Given the description of an element on the screen output the (x, y) to click on. 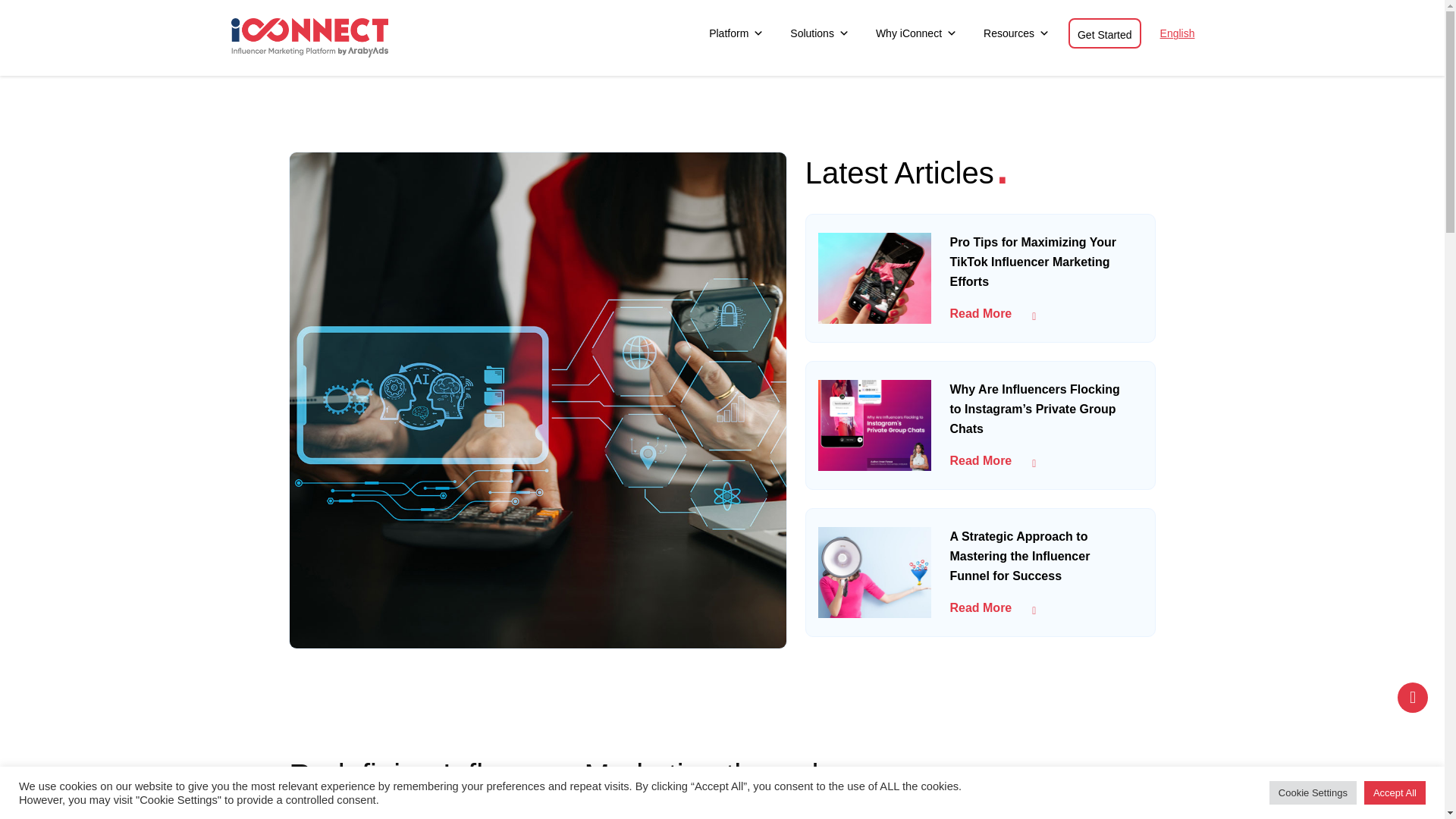
Solutions (820, 33)
Why iConnect (915, 33)
English (1177, 33)
Get Started (1104, 33)
Platform (736, 33)
Resources (1016, 33)
Read More (992, 460)
Read More (992, 313)
